Given the description of an element on the screen output the (x, y) to click on. 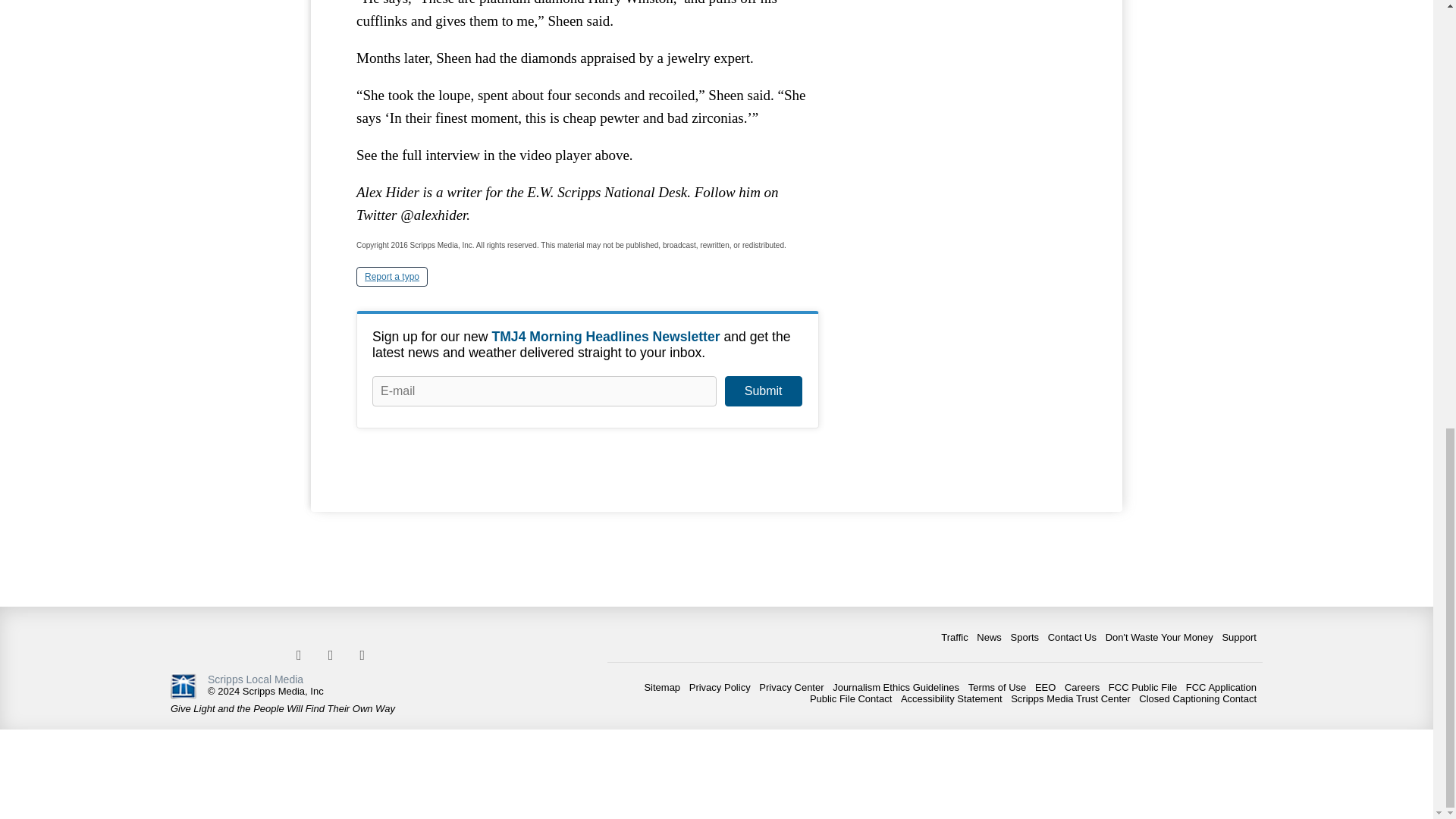
Submit (763, 390)
